Given the description of an element on the screen output the (x, y) to click on. 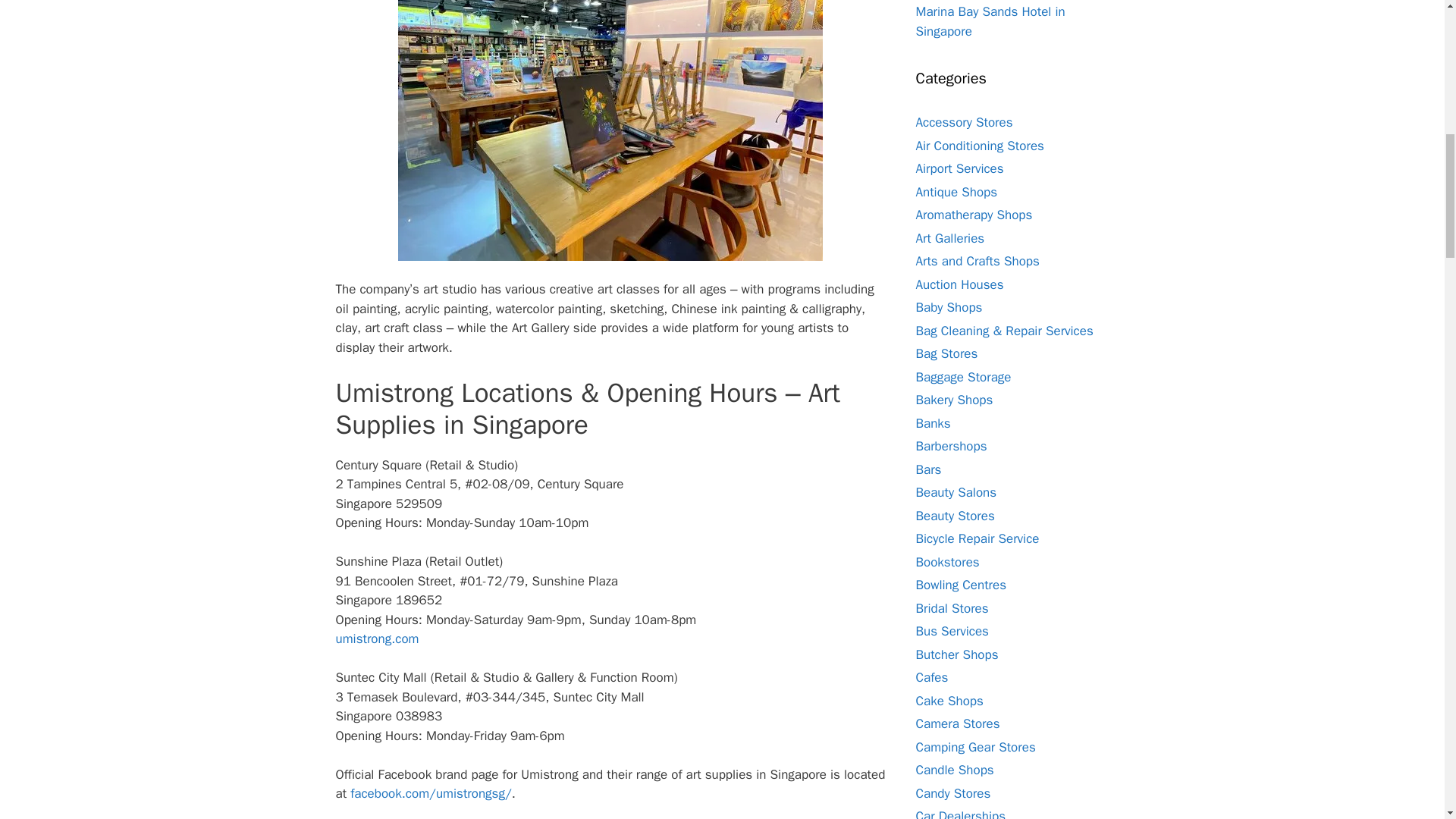
umistrong.com (376, 638)
Baby Shops (948, 307)
Auction Houses (959, 284)
Marina Bay Sands Hotel in Singapore (990, 21)
Aromatherapy Shops (973, 214)
Baggage Storage (963, 376)
Airport Services (959, 168)
Air Conditioning Stores (979, 145)
Bag Stores (946, 353)
Bakery Shops (953, 399)
